Given the description of an element on the screen output the (x, y) to click on. 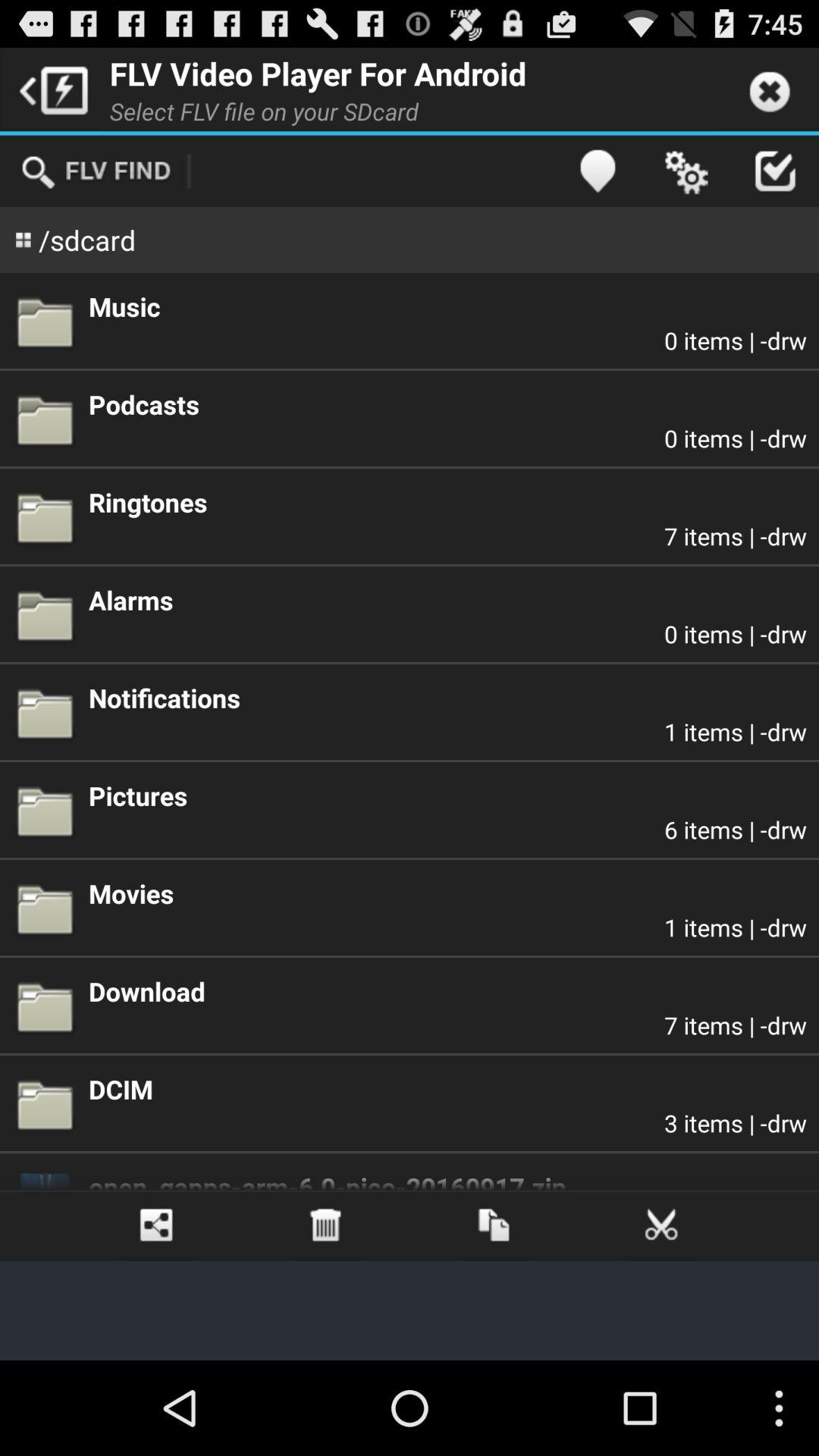
select the button which is next to the settings button (774, 170)
select the button which is at bottom right corner of the page (662, 1225)
click the setting button (685, 170)
select the button which is left to delete button (157, 1225)
